Given the description of an element on the screen output the (x, y) to click on. 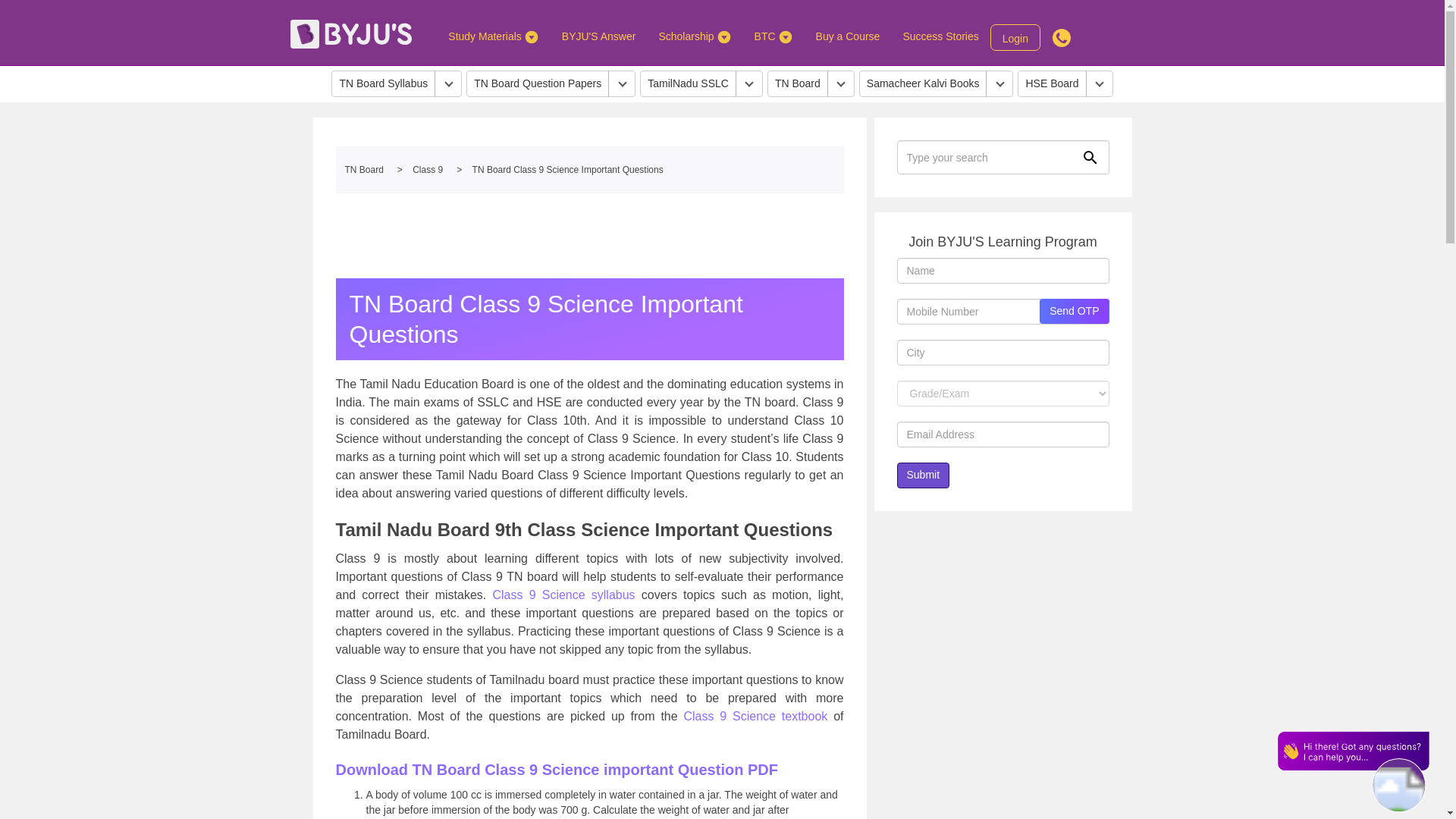
TN BoardClass 9TN Board Class 9 Science Important Questions (588, 169)
Study Materials (493, 35)
